Given the description of an element on the screen output the (x, y) to click on. 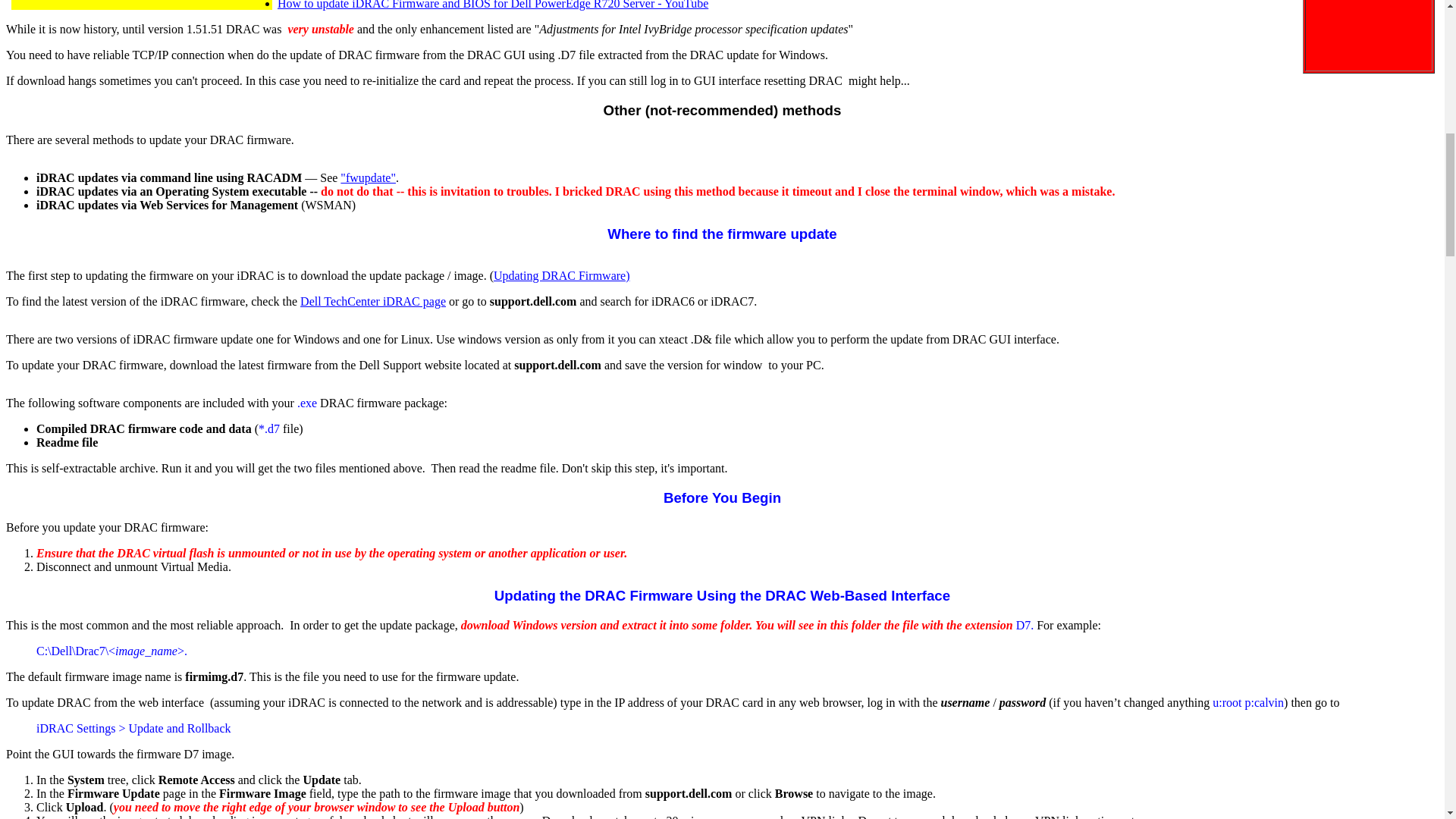
Advertisement (141, 3)
Advertisement (1367, 33)
Before You Begin (721, 497)
Where to find the firmware update (721, 233)
Dell TechCenter iDRAC page (372, 300)
"fwupdate" (368, 177)
